Given the description of an element on the screen output the (x, y) to click on. 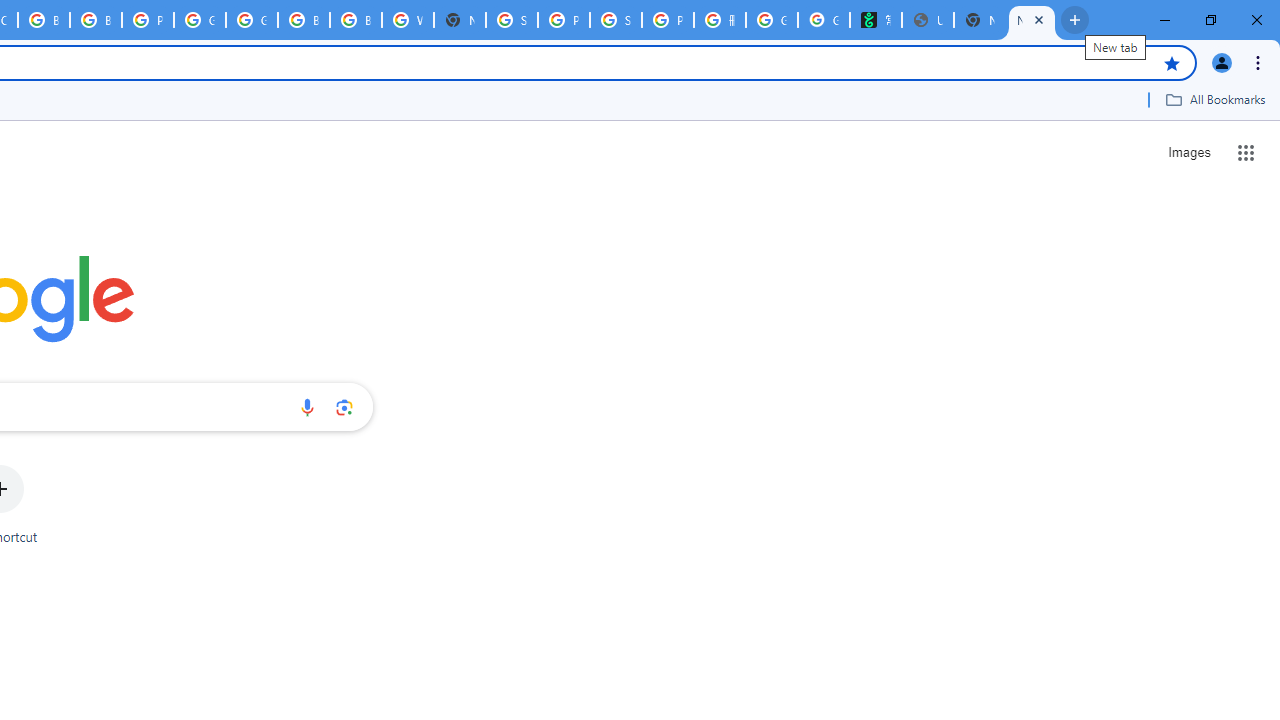
New Tab (1032, 20)
Google Cloud Platform (200, 20)
New Tab (459, 20)
Google Cloud Platform (251, 20)
Untitled (927, 20)
